Given the description of an element on the screen output the (x, y) to click on. 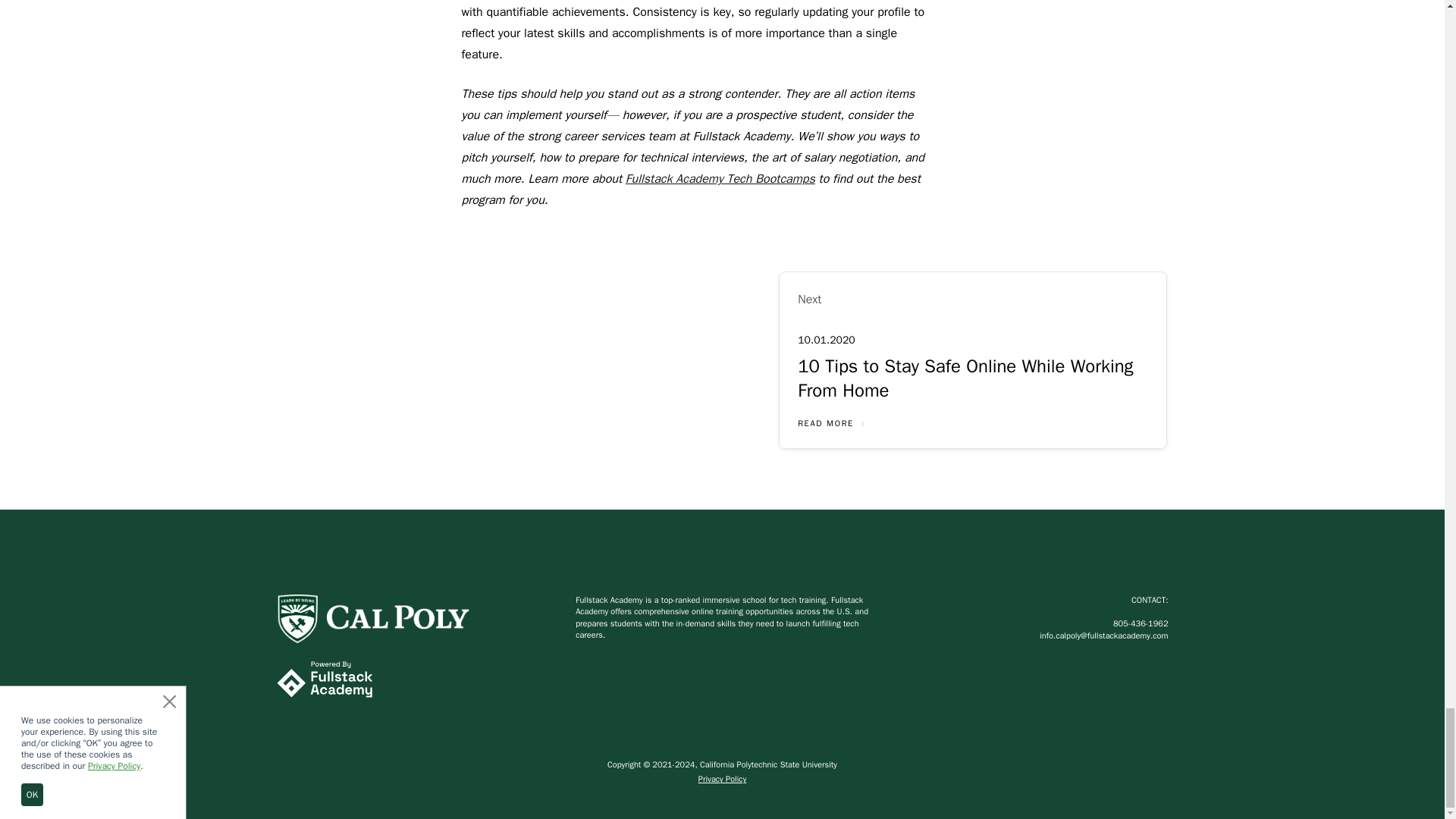
Fullstack Academy Tech Bootcamps (720, 178)
805-436-1962 (1141, 623)
Privacy Policy (722, 779)
